Given the description of an element on the screen output the (x, y) to click on. 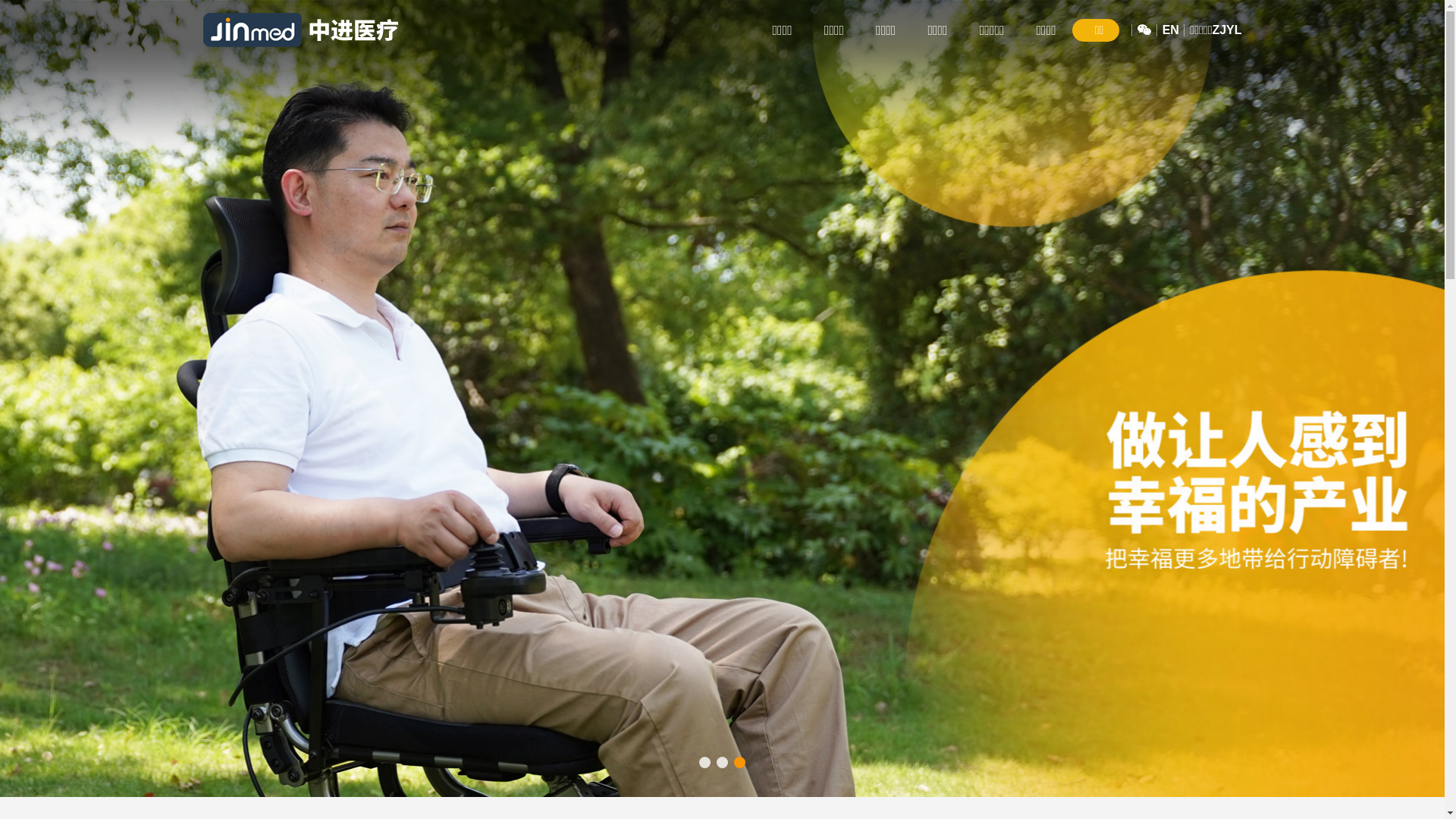
EN Element type: text (1170, 29)
